Given the description of an element on the screen output the (x, y) to click on. 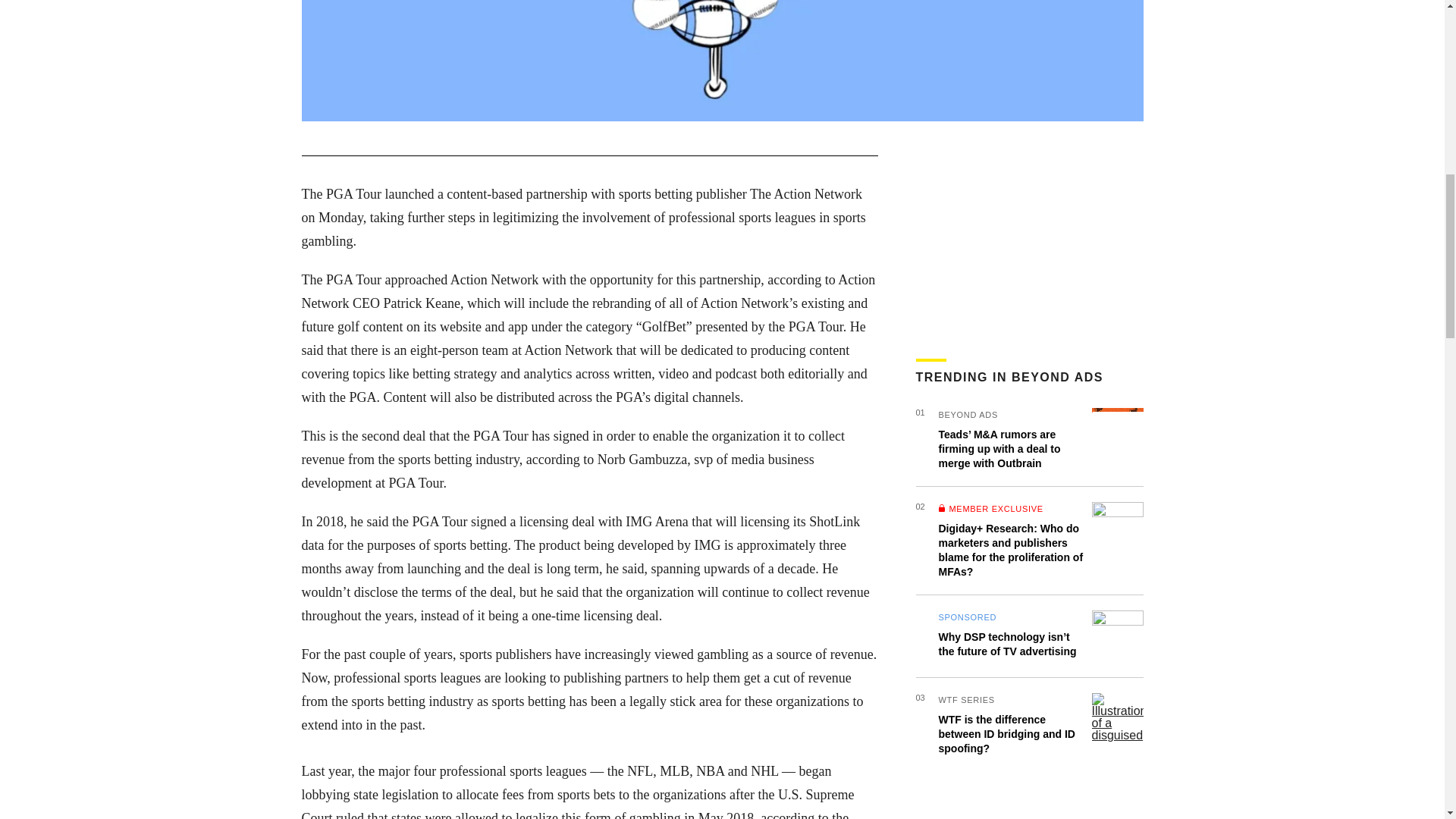
WTF is the difference between ID bridging and ID spoofing? (1007, 733)
